Given the description of an element on the screen output the (x, y) to click on. 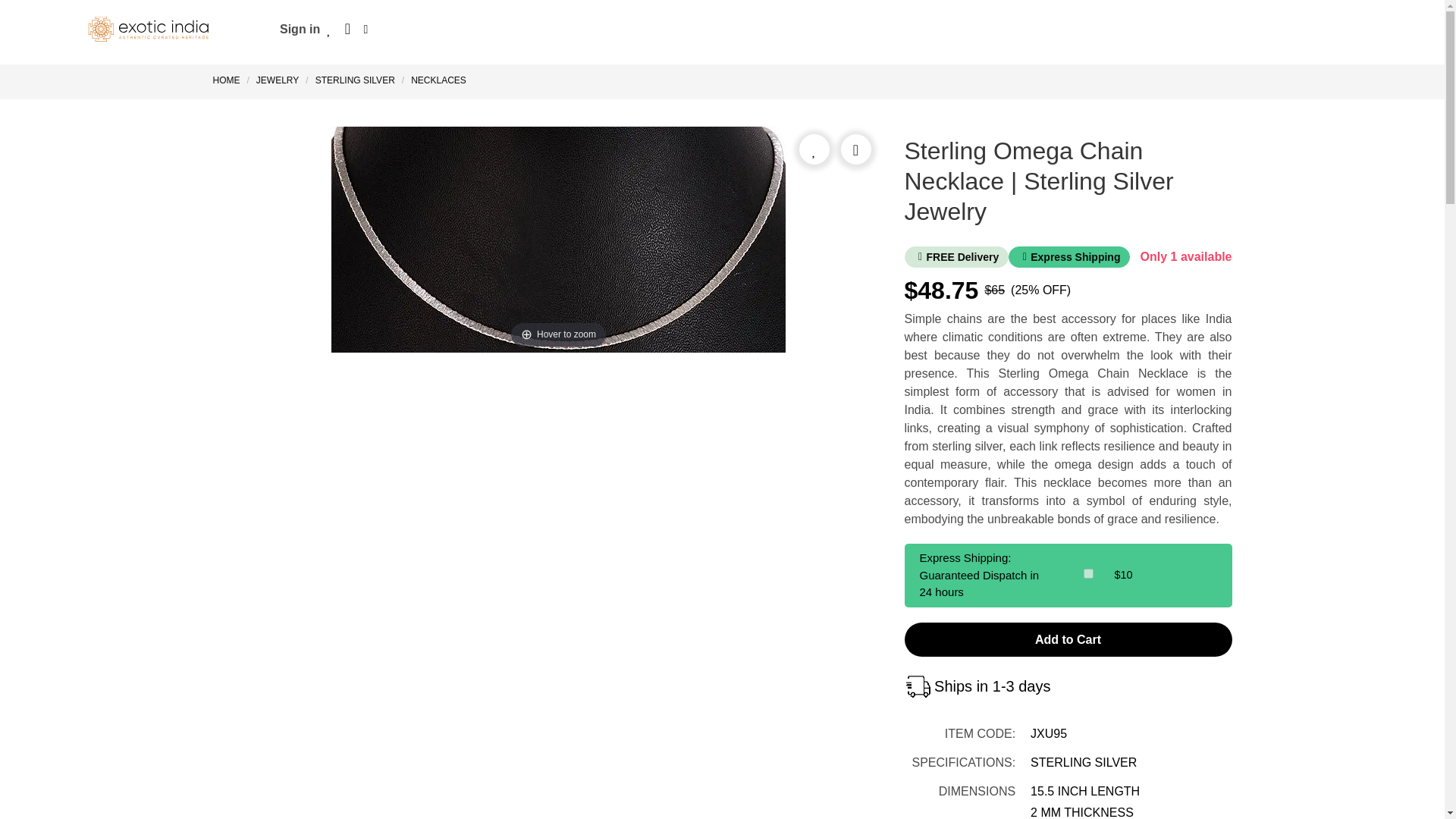
Add to Cart (1067, 638)
Sign in (299, 29)
NECKLACES (438, 79)
Sign in (299, 29)
Home (229, 79)
JEWELRY (276, 79)
Wishlist (328, 29)
Jewelry (276, 79)
Hover to zoom (558, 239)
HOME (229, 79)
